Given the description of an element on the screen output the (x, y) to click on. 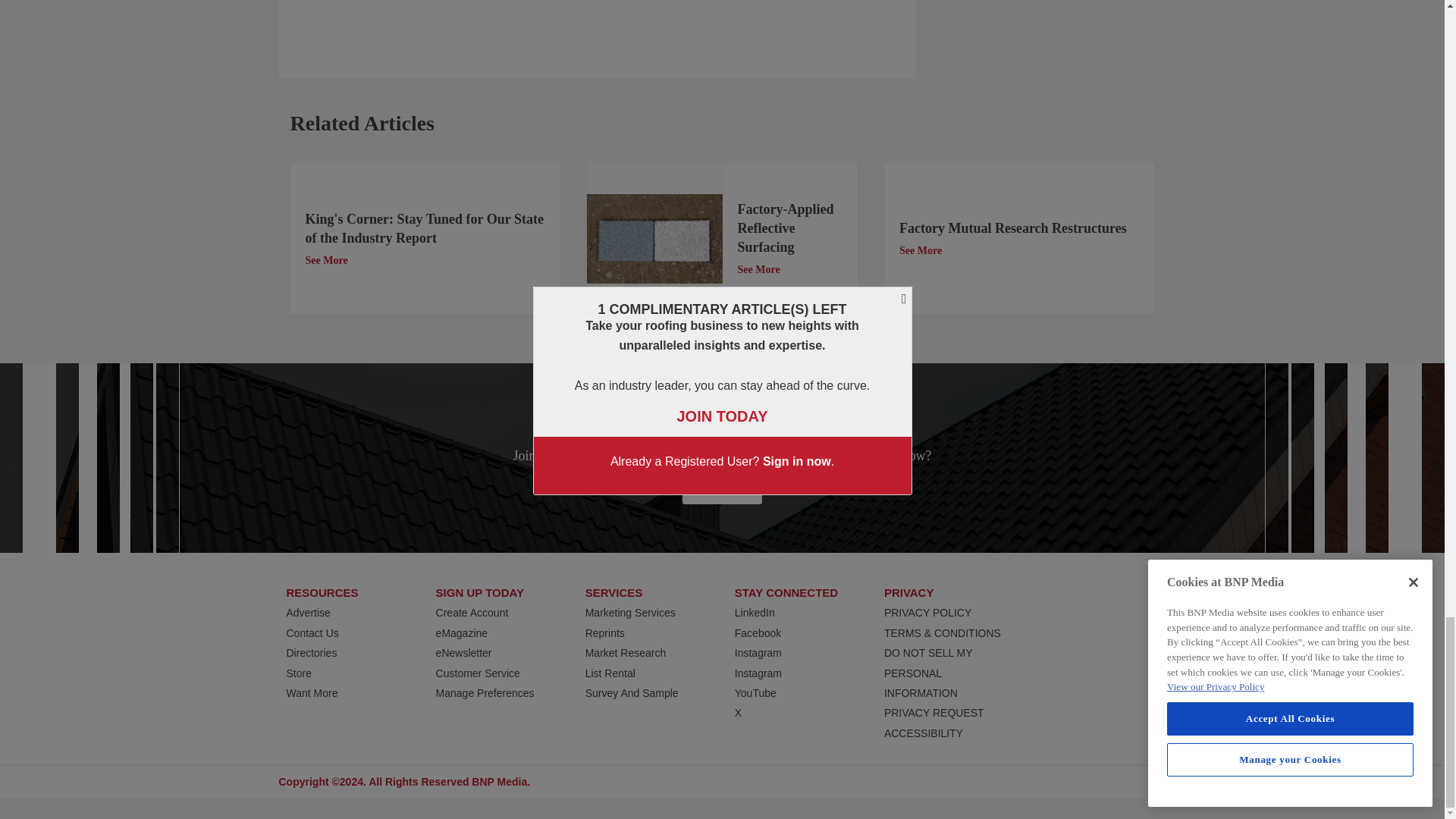
Interaction questions (1052, 36)
